Given the description of an element on the screen output the (x, y) to click on. 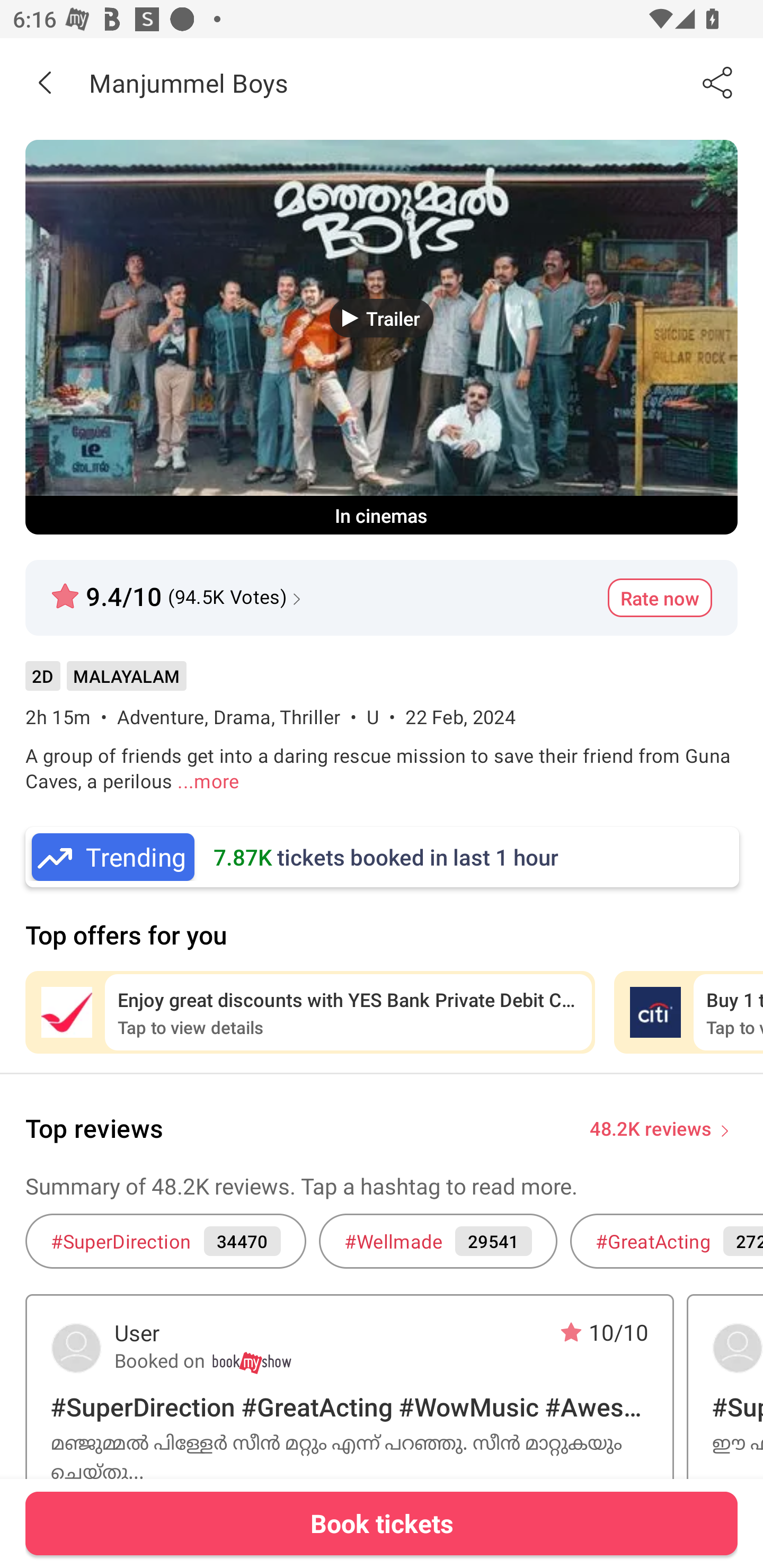
Back (44, 82)
Share (718, 82)
Movie Banner Trailer In cinemas (381, 336)
Trailer (381, 318)
9.4/10 (94.5K Votes) (178, 589)
Rate now (659, 597)
2D MALAYALAM (105, 682)
48.2K reviews (650, 1127)
#SuperDirection 34470 (165, 1240)
#Wellmade 29541 (437, 1240)
#GreatActing 27264 (666, 1240)
Book tickets (381, 1523)
